Given the description of an element on the screen output the (x, y) to click on. 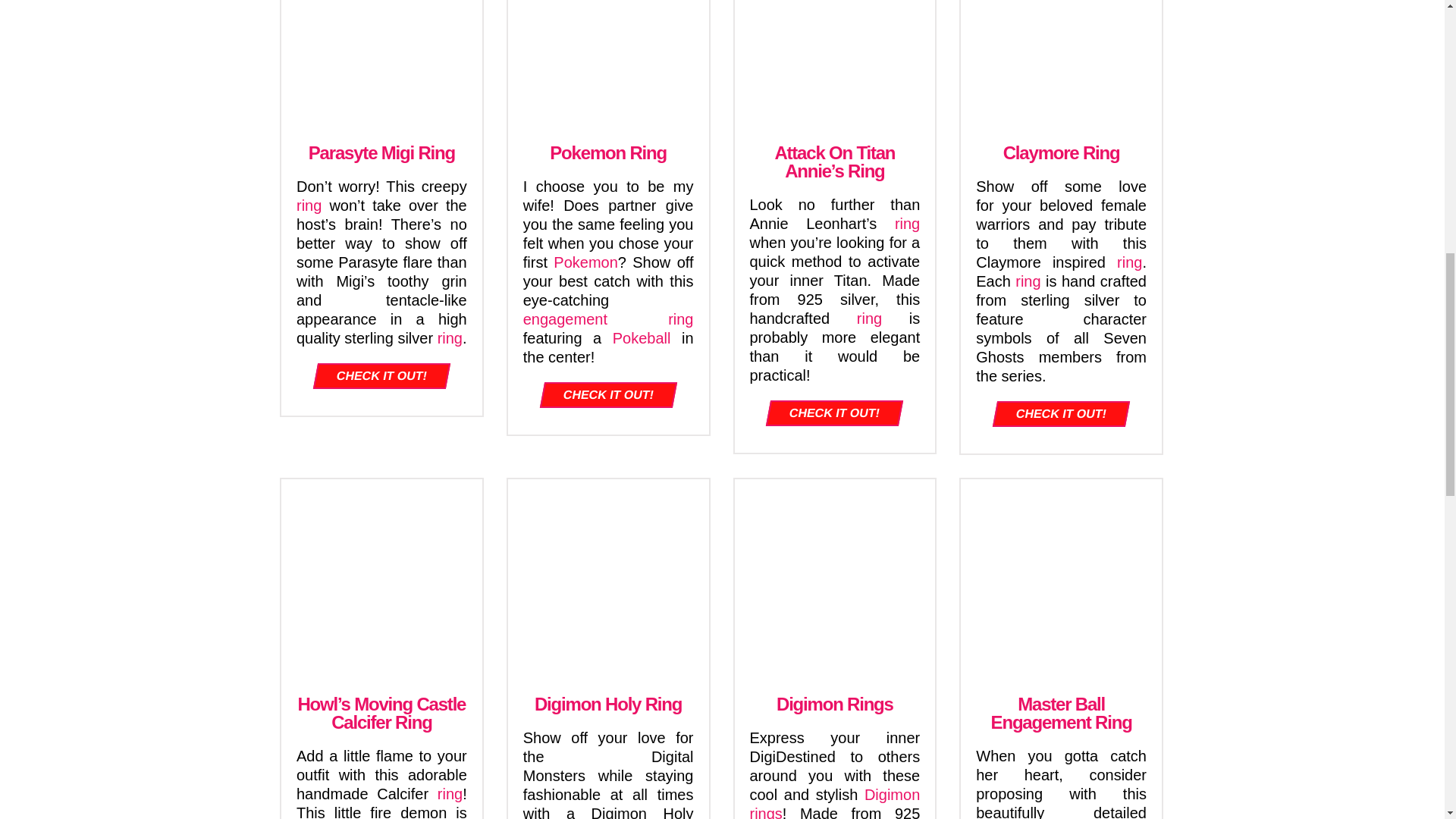
Attack On Titan Annie's Ring - Shut Up And Take My Yen (833, 64)
ring (1128, 262)
CHECK IT OUT! (379, 376)
Pokemon Engagement Ring - Shut Up And Take My Yen (608, 64)
Parasyte Migi Ring - Shut Up And Take My Yen (381, 64)
ring (309, 205)
Pokemon Ring (608, 153)
Digimon Holy Ring - Shut Up And Take My Yen (608, 579)
ring (869, 318)
ring (907, 223)
Digimon Rings - Shut Up And Take My Yen (833, 579)
engagement (564, 319)
Master Ball Engagement Ring - Shut Up And Take My Yen (1060, 579)
CHECK IT OUT! (604, 394)
